Given the description of an element on the screen output the (x, y) to click on. 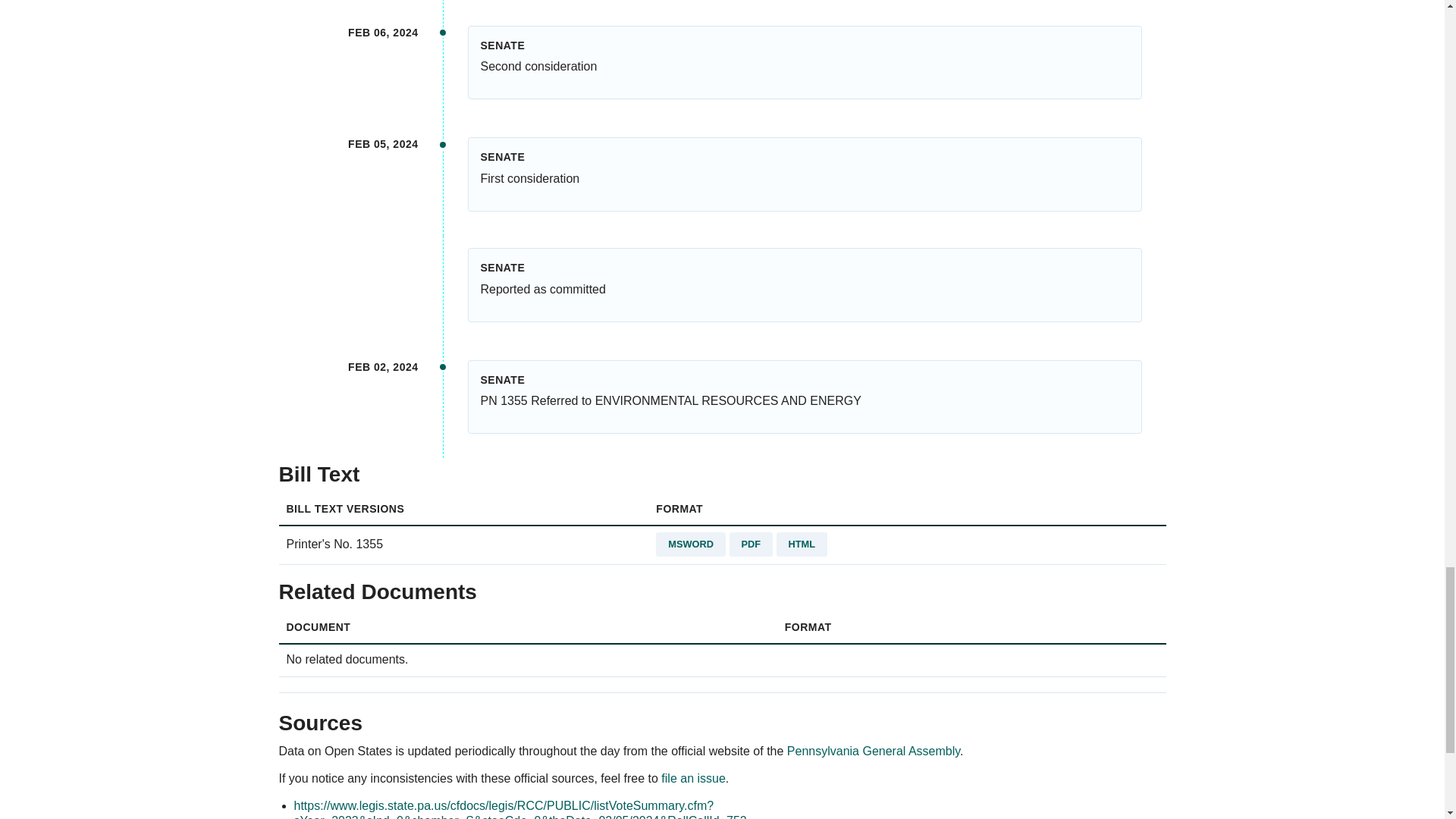
HTML (802, 544)
MSWORD (690, 544)
PDF (751, 544)
